Given the description of an element on the screen output the (x, y) to click on. 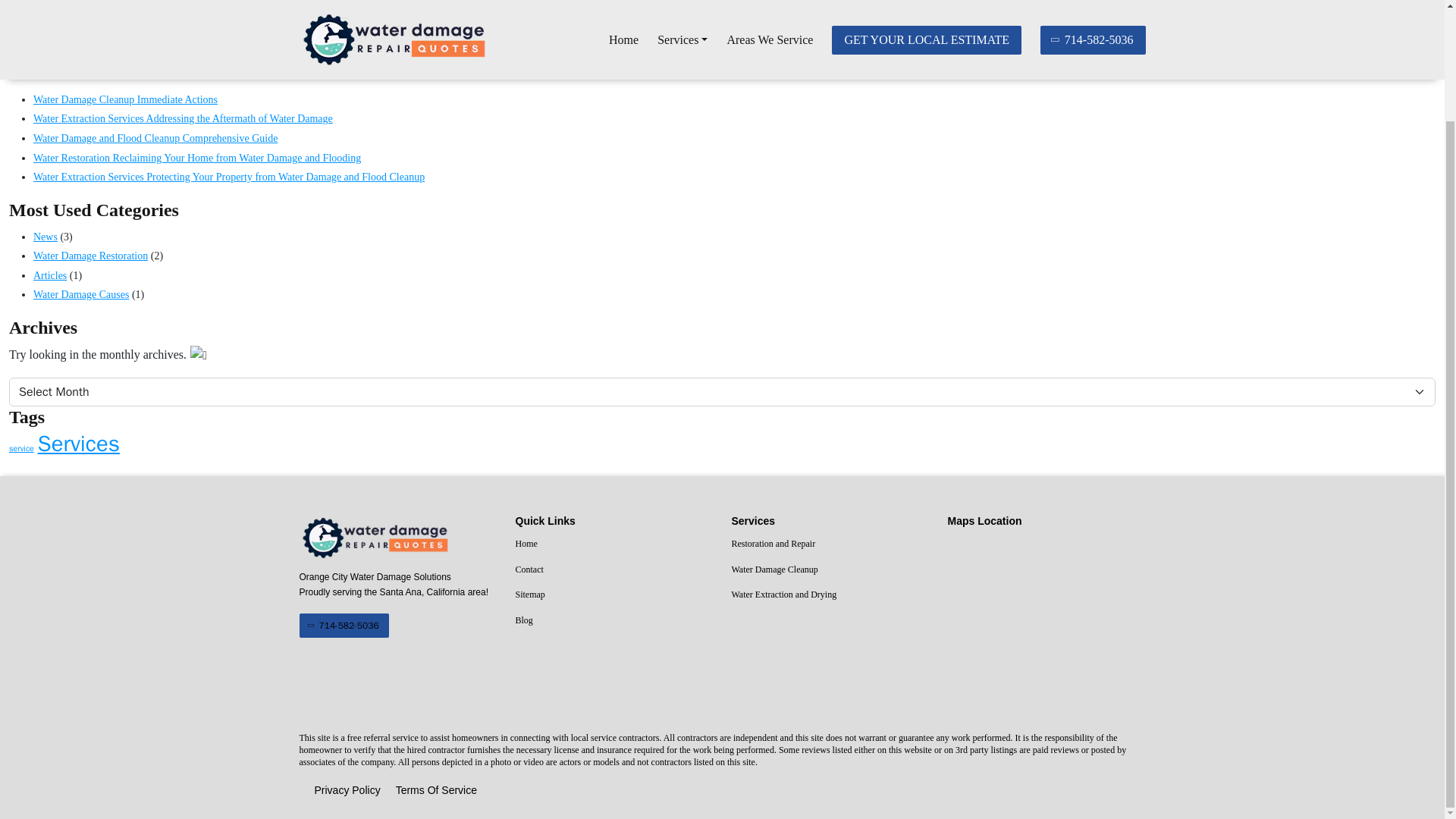
Water Damage Causes (81, 294)
service (20, 448)
Sitemap (614, 595)
714-582-5036 (343, 625)
Search (1406, 47)
Blog (614, 620)
Home (614, 544)
